Given the description of an element on the screen output the (x, y) to click on. 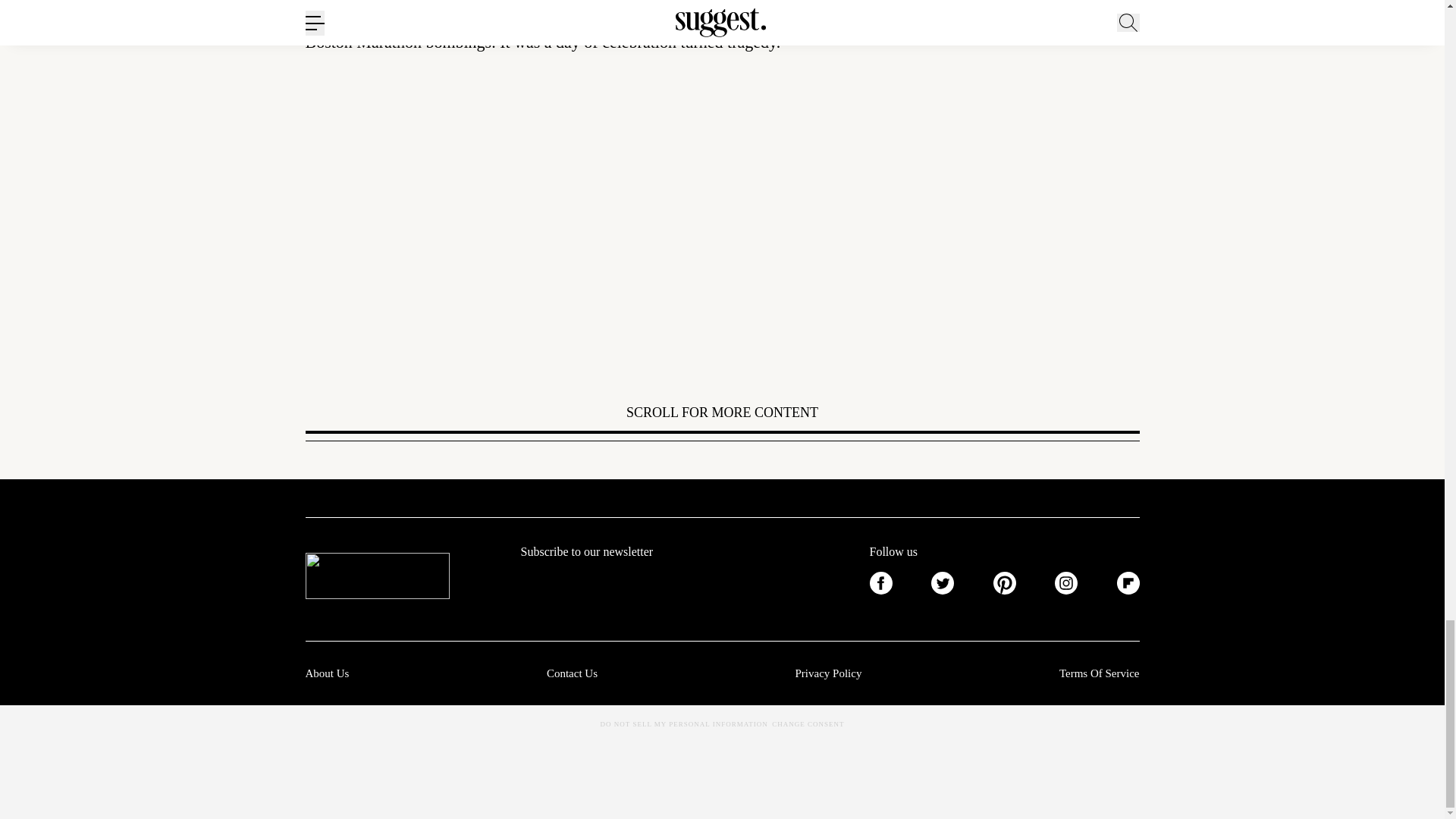
Contact Us (571, 673)
About Us (326, 673)
